Given the description of an element on the screen output the (x, y) to click on. 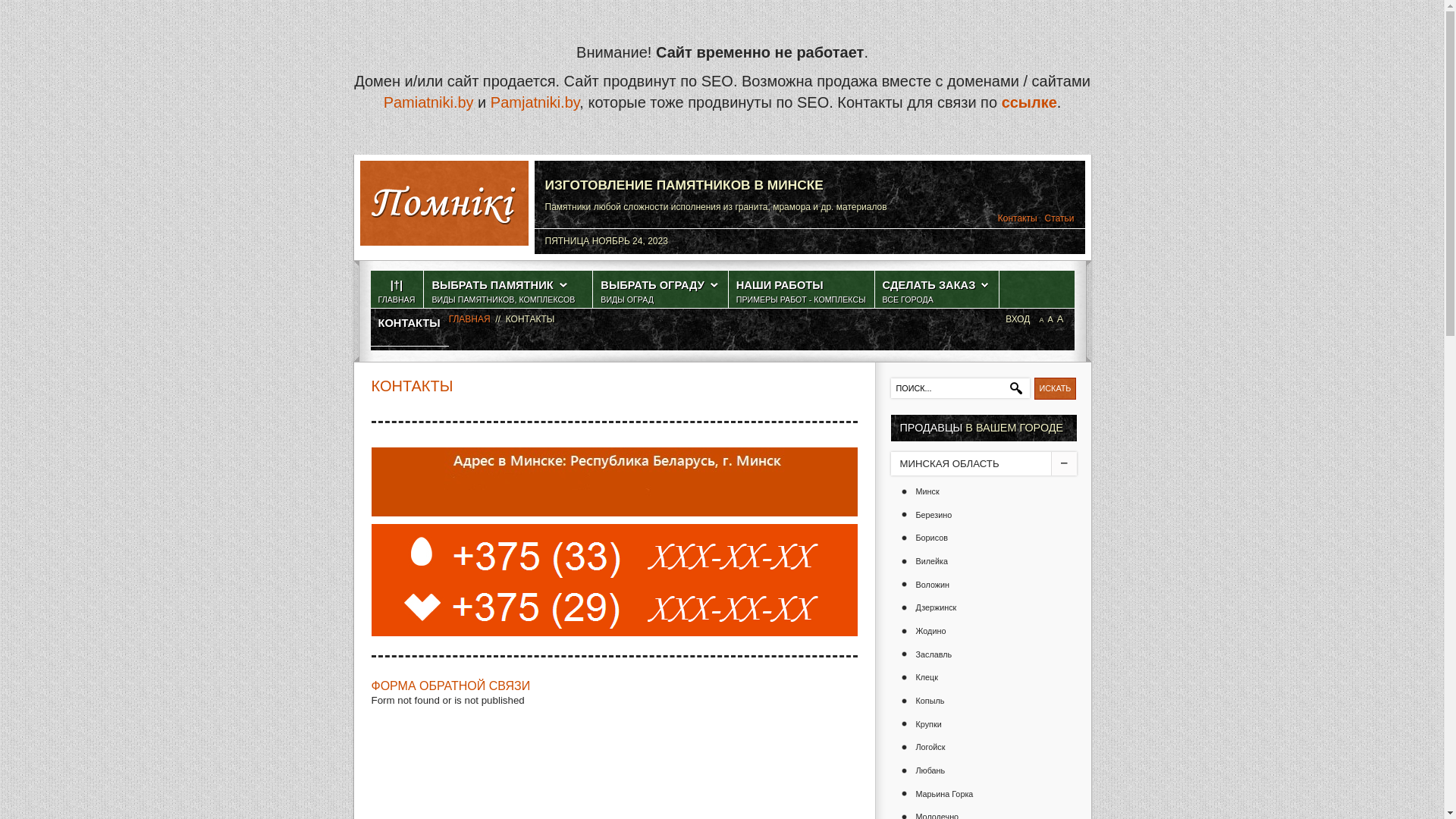
A Element type: text (1049, 318)
A Element type: text (1060, 318)
Pamiatniki.by Element type: text (428, 102)
A Element type: text (1040, 319)
Pamjatniki.by Element type: text (534, 102)
